Given the description of an element on the screen output the (x, y) to click on. 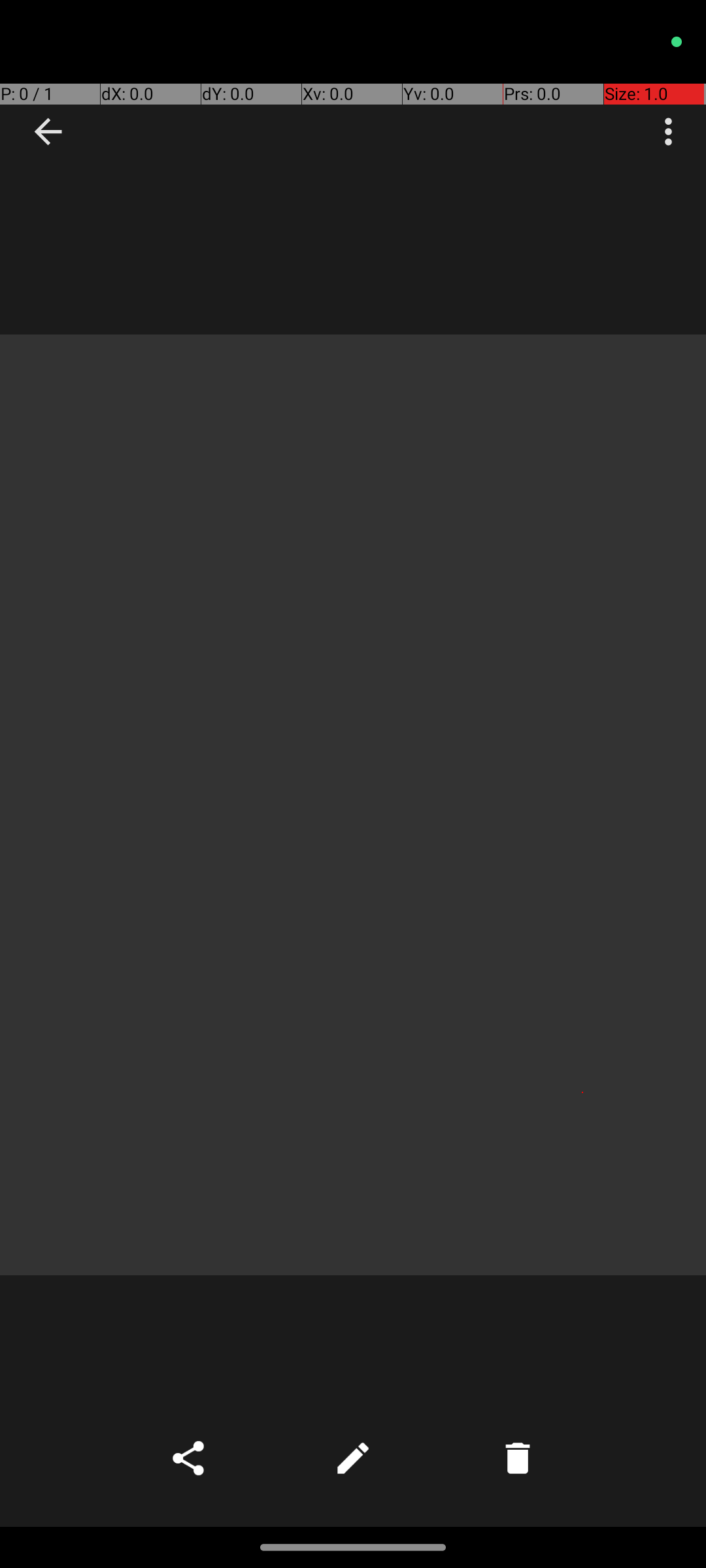
Edit Element type: android.widget.ImageButton (352, 1458)
Delete Element type: android.widget.ImageButton (517, 1458)
Navigate up Element type: android.widget.ImageButton (48, 131)
Photo taken on Oct 15, 2023 15:34:31 Element type: android.widget.ImageView (353, 804)
